Given the description of an element on the screen output the (x, y) to click on. 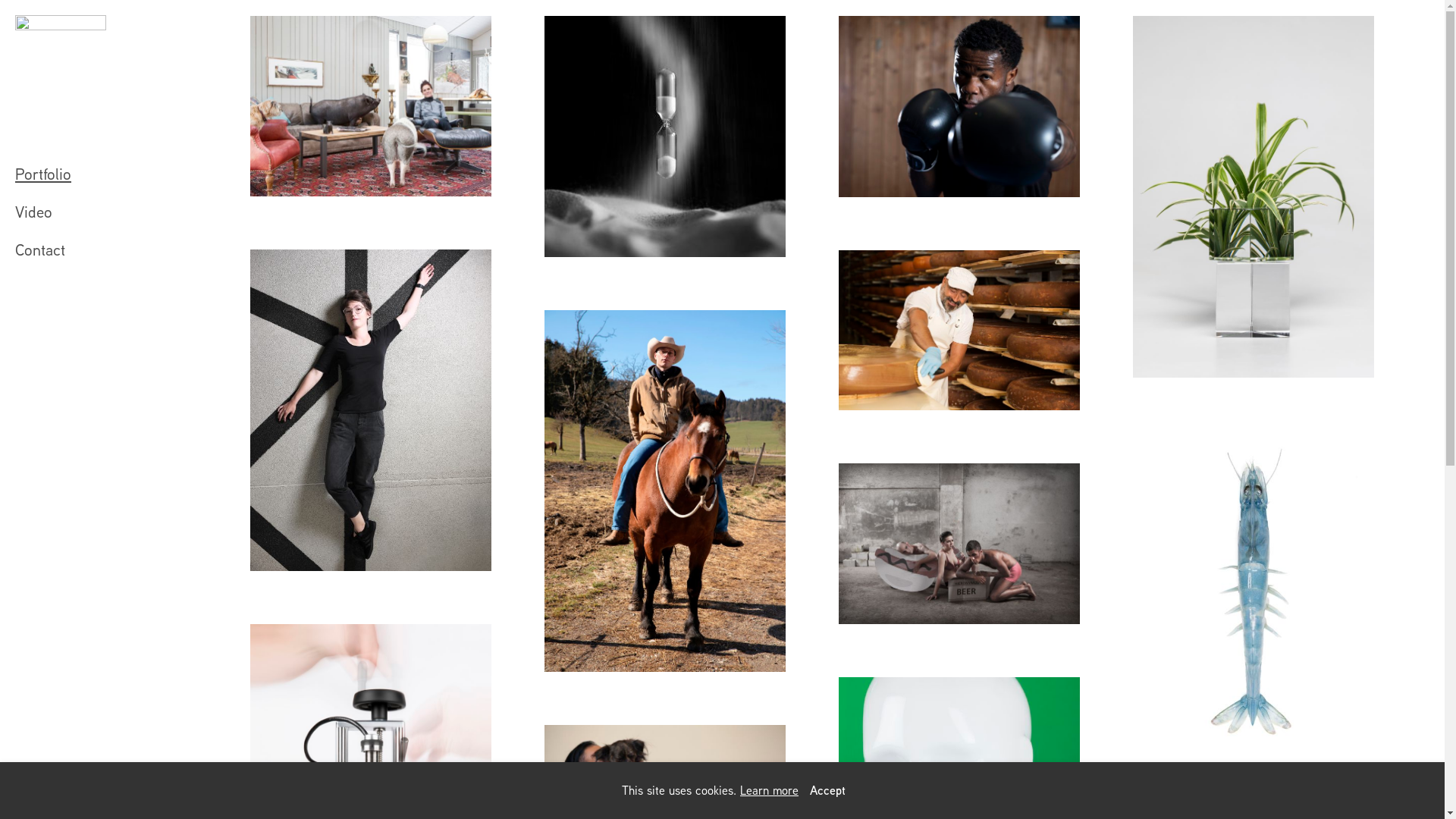
Contact Element type: text (121, 250)
Learn more Element type: text (769, 790)
Accept Element type: text (827, 790)
Video Element type: text (121, 212)
Portfolio Element type: text (121, 174)
